Given the description of an element on the screen output the (x, y) to click on. 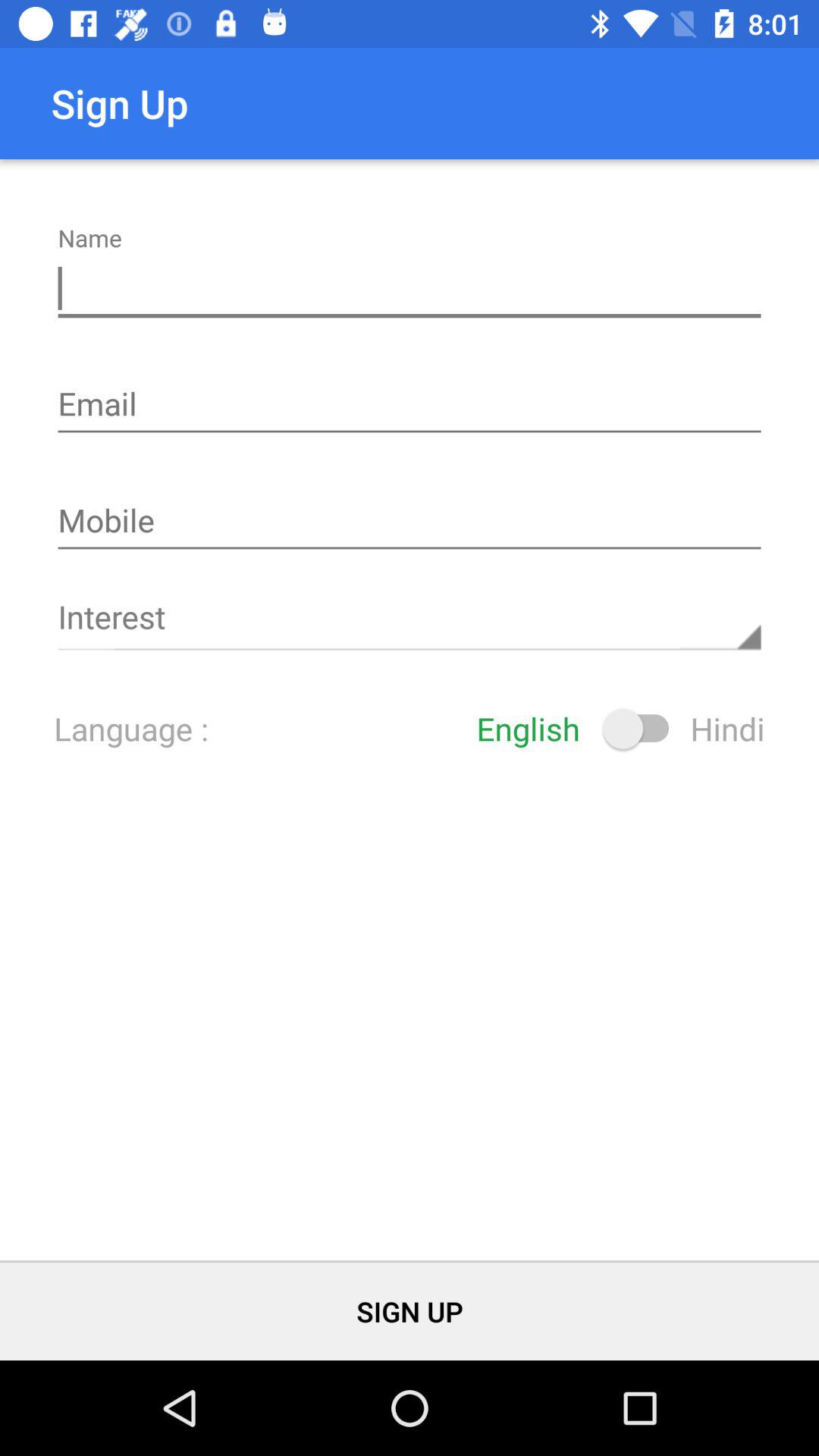
enter email address (409, 405)
